Given the description of an element on the screen output the (x, y) to click on. 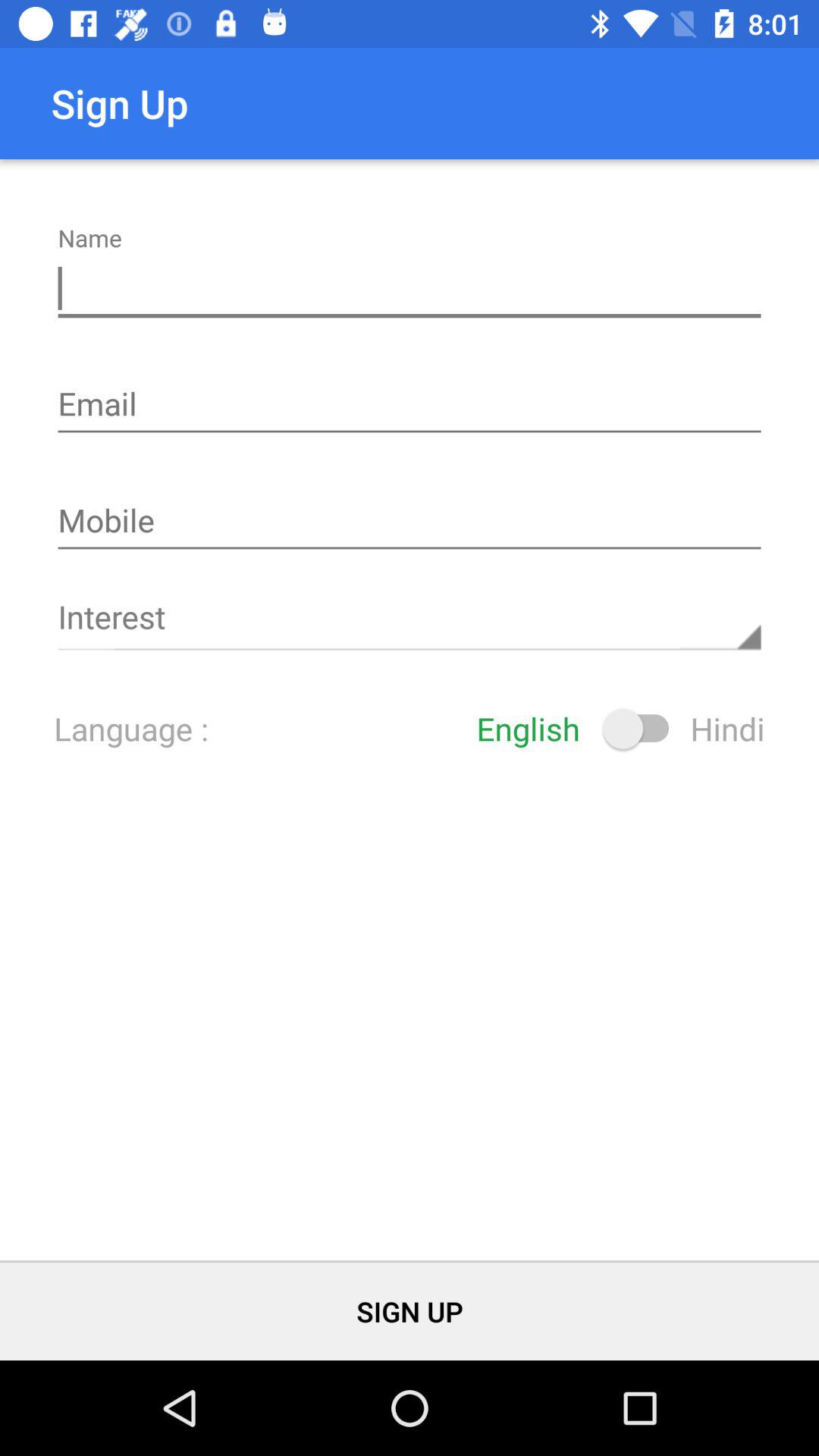
enter email address (409, 405)
